Given the description of an element on the screen output the (x, y) to click on. 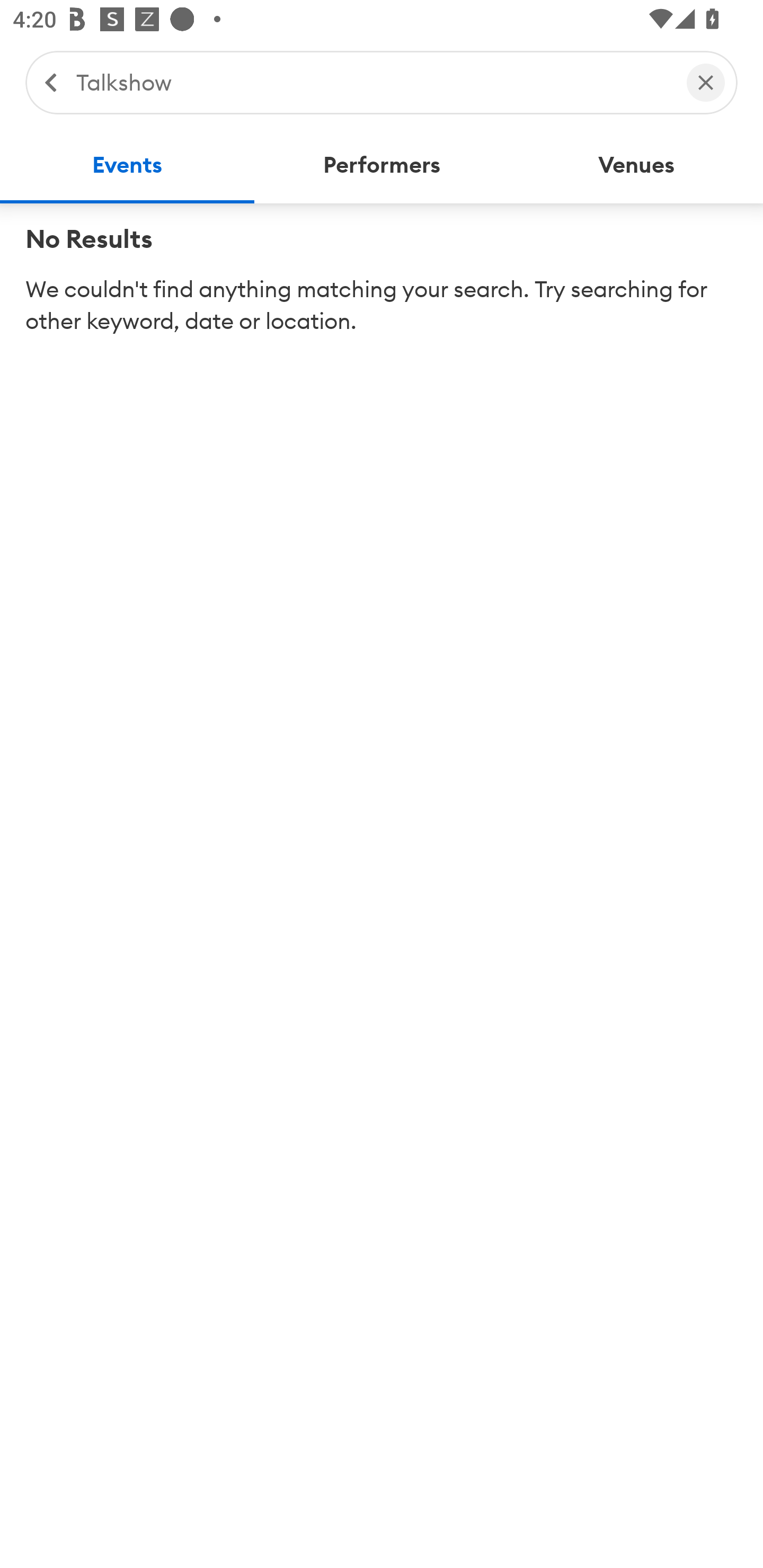
Talkshow (371, 81)
Clear Search (705, 81)
Performers (381, 165)
Venues (635, 165)
